Given the description of an element on the screen output the (x, y) to click on. 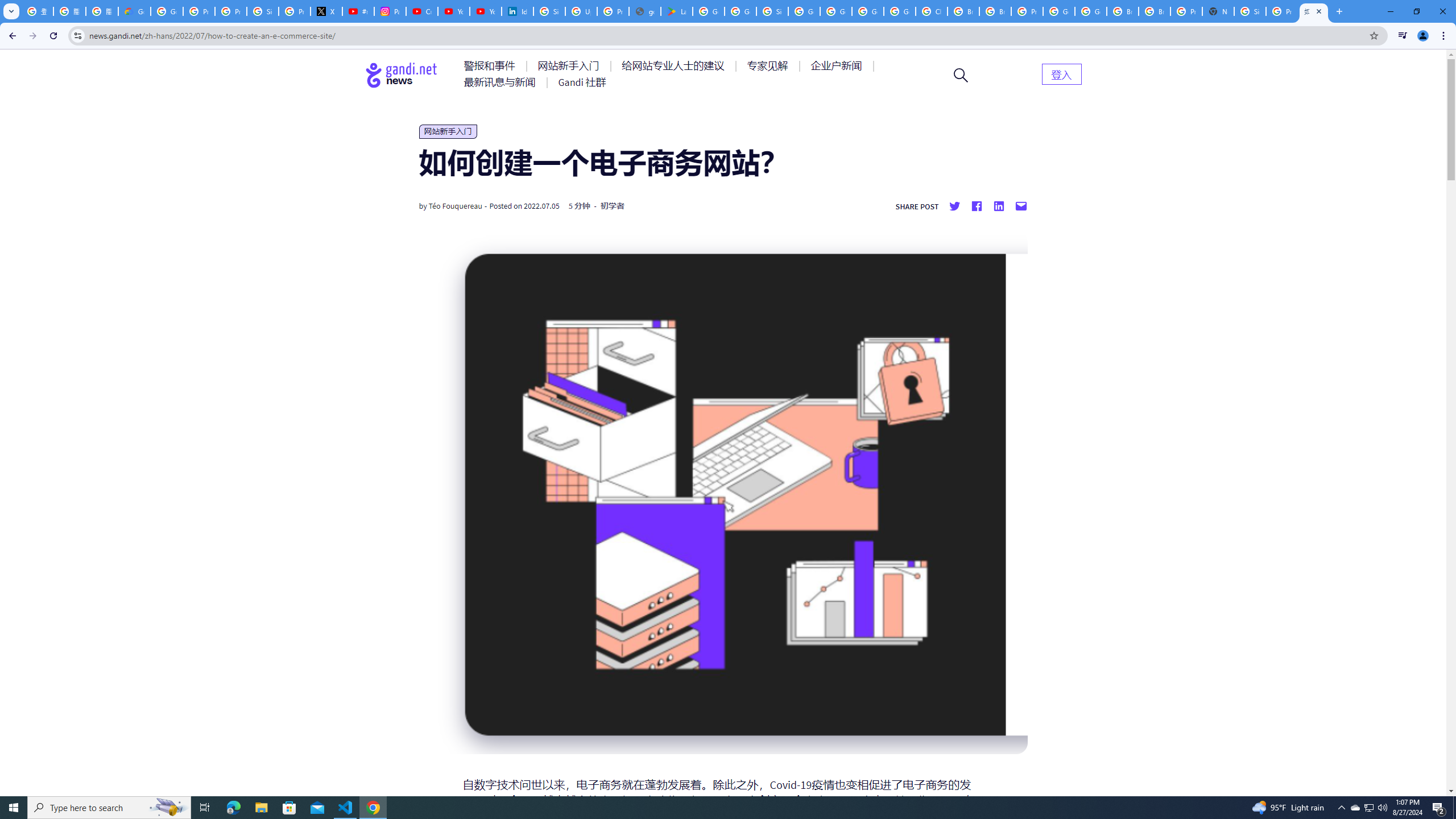
Sign in - Google Accounts (549, 11)
Last Shelter: Survival - Apps on Google Play (676, 11)
AutomationID: menu-item-77762 (570, 65)
Browse Chrome as a guest - Computer - Google Chrome Help (1123, 11)
Google Cloud Platform (868, 11)
Share on Linkedin (998, 205)
